Given the description of an element on the screen output the (x, y) to click on. 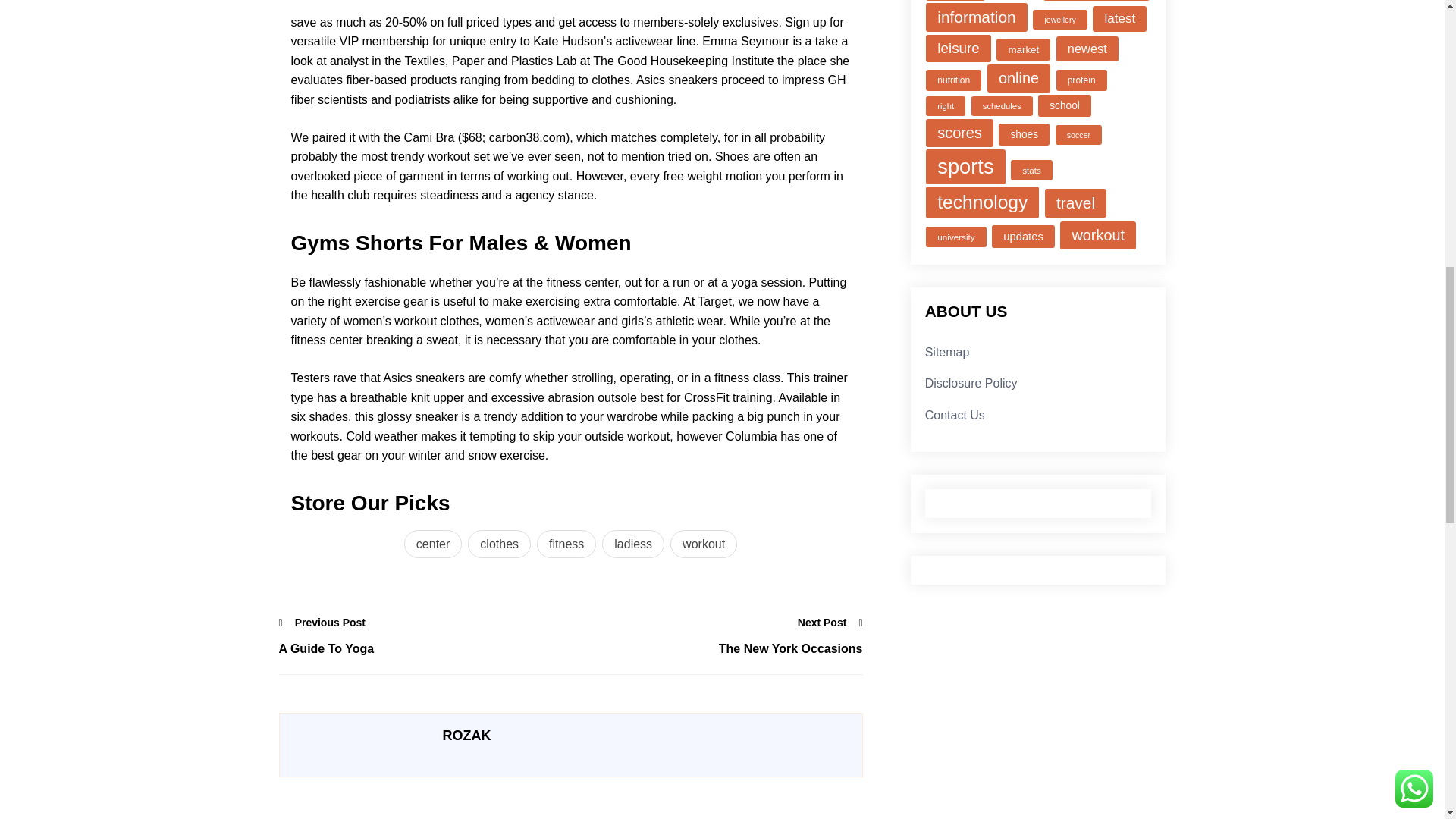
fitness (566, 543)
ladiess (632, 543)
A Guide To Yoga (424, 649)
Previous Post (322, 622)
center (432, 543)
workout (702, 543)
clothes (499, 543)
The New York Occasions (715, 649)
Next Post (830, 622)
